Given the description of an element on the screen output the (x, y) to click on. 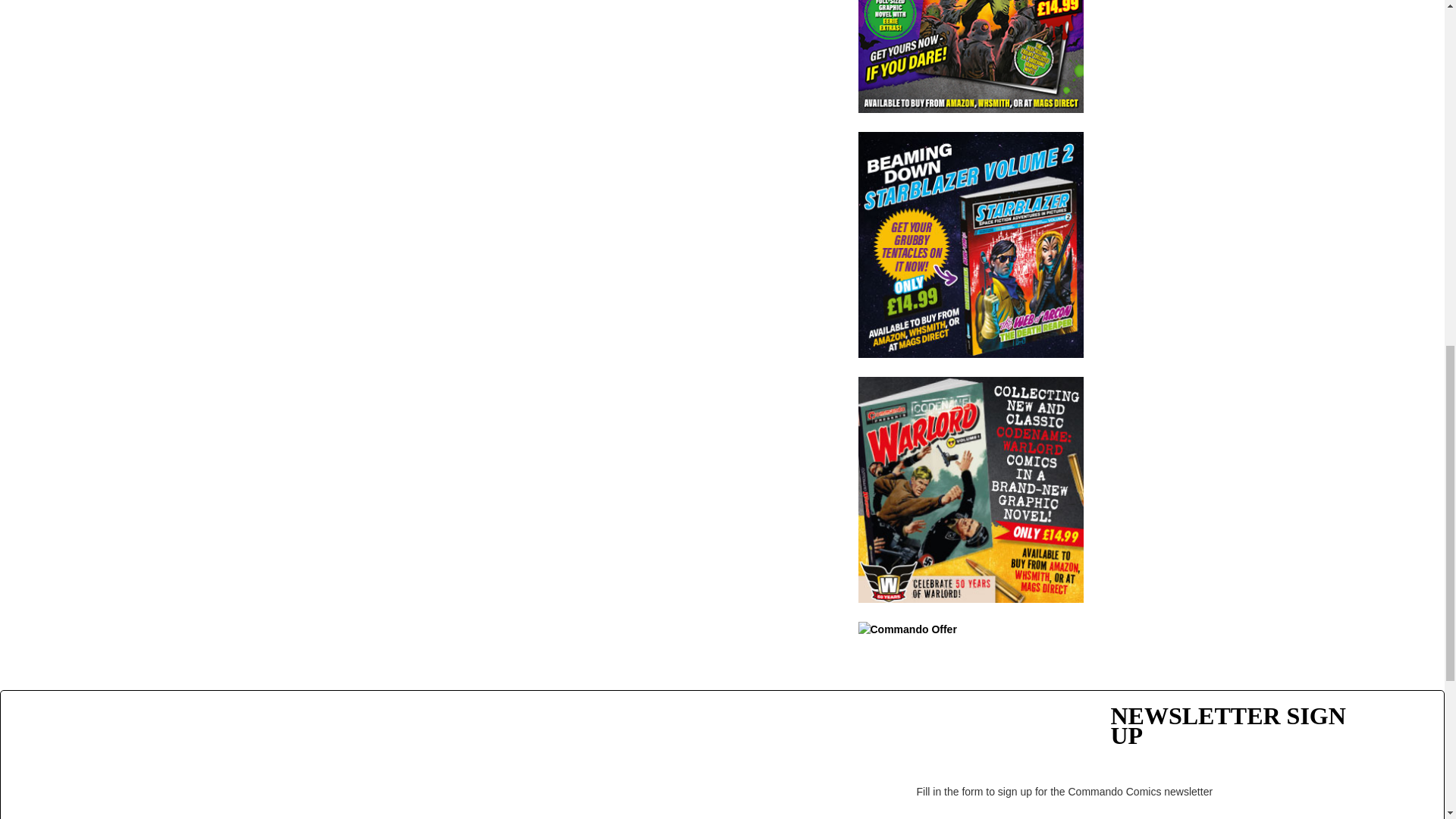
Privacy Policy (575, 792)
Email Us (755, 797)
Advertising (569, 740)
Cookie Policy (575, 815)
Like us on Facebook (785, 817)
Submissions (379, 792)
Terms and Conditions (595, 766)
The Collection (382, 766)
Home (360, 740)
About Subscriptions (397, 815)
